Given the description of an element on the screen output the (x, y) to click on. 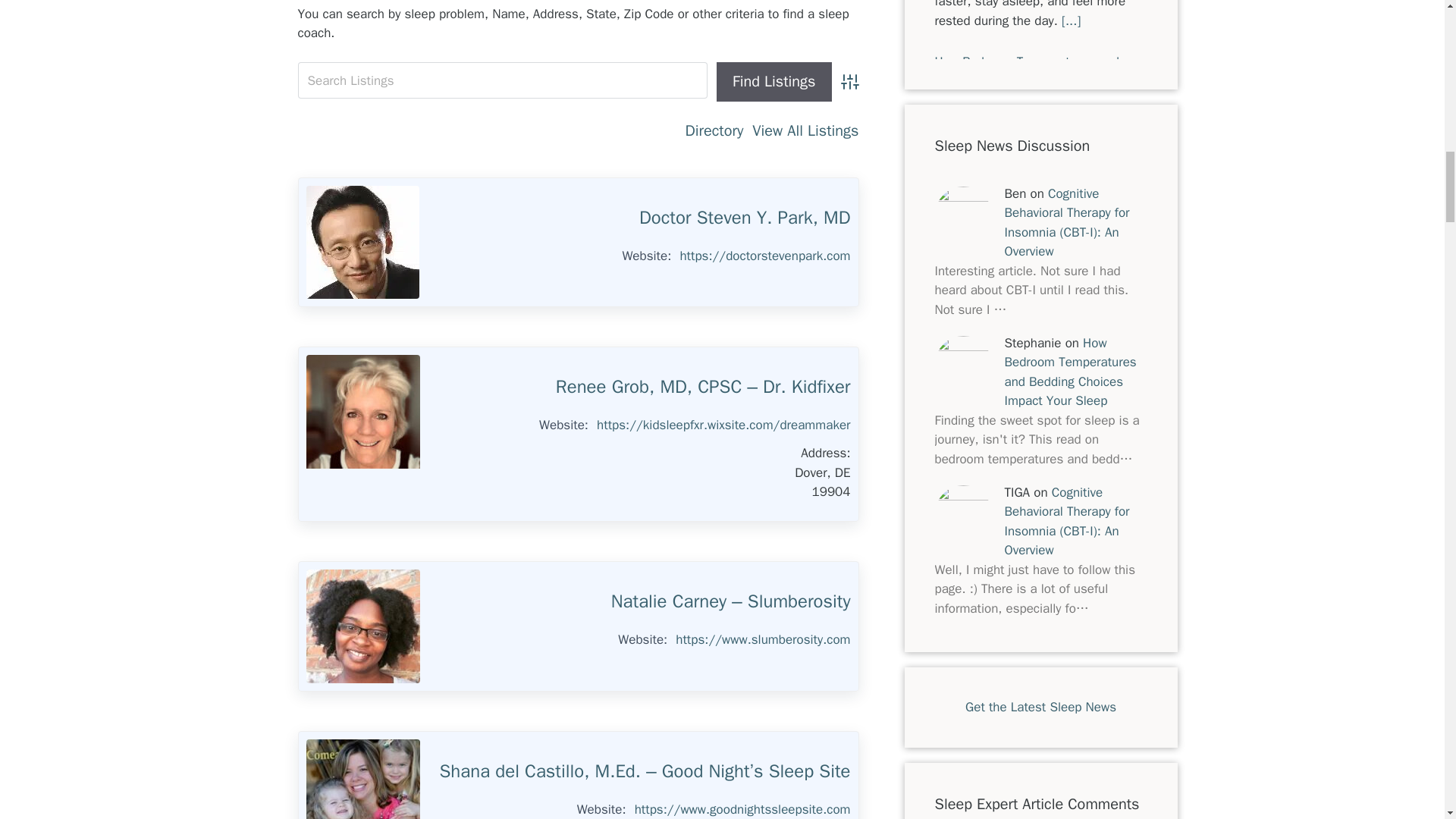
View All Listings (805, 130)
Doctor Steven Y. Park, MD (744, 217)
Renee Grob, MD, CPSC - Dr. Kidfixer (362, 411)
Doctor Steven Y. Park, MD (362, 241)
Find Listings (773, 81)
Quick search keywords (502, 80)
Find Listings (773, 81)
Directory (714, 130)
